Given the description of an element on the screen output the (x, y) to click on. 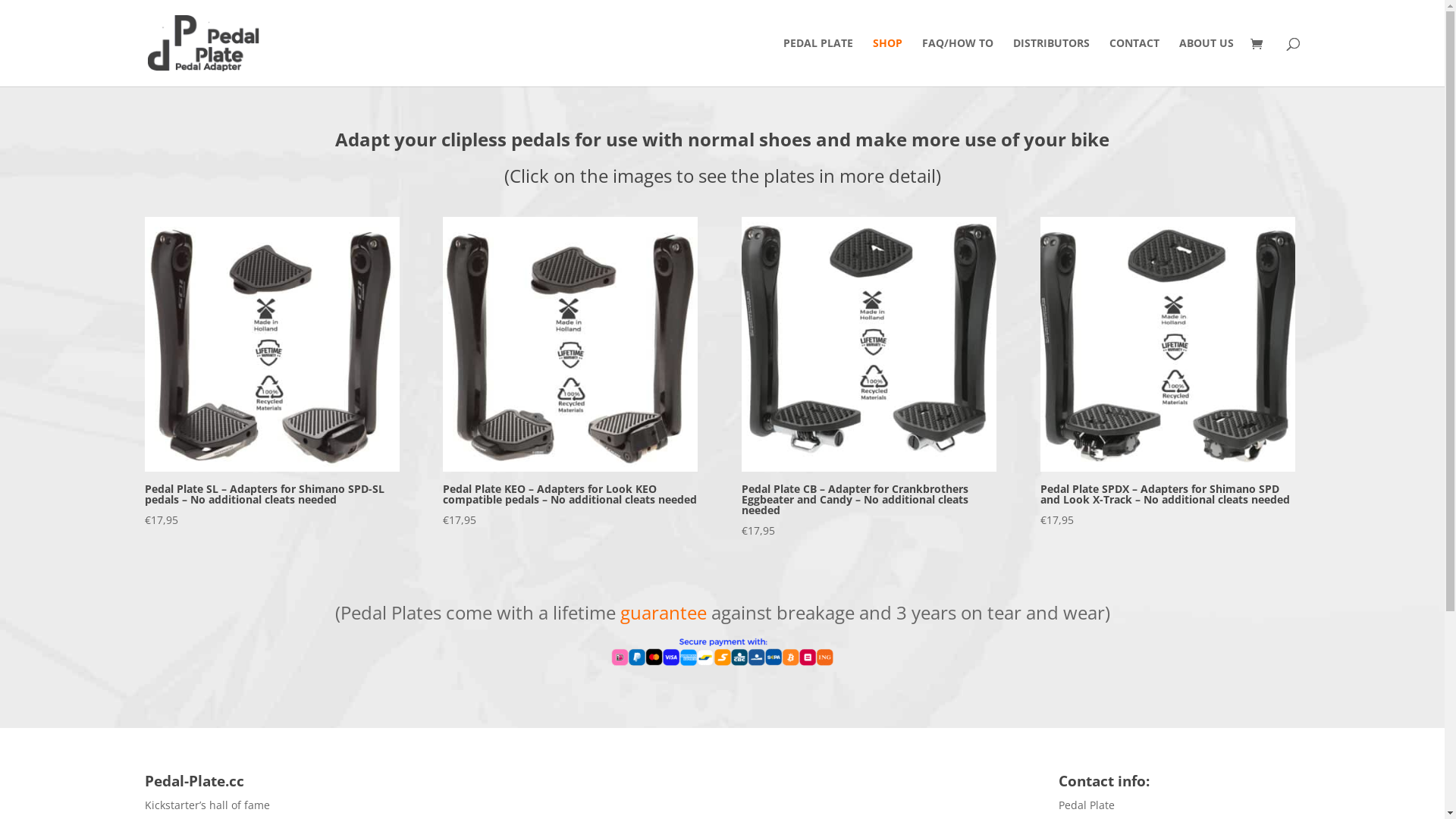
guarantee Element type: text (663, 611)
DISTRIBUTORS Element type: text (1051, 61)
CONTACT Element type: text (1133, 61)
FAQ/HOW TO Element type: text (957, 61)
ABOUT US Element type: text (1205, 61)
PEDAL PLATE Element type: text (817, 61)
SHOP Element type: text (886, 61)
